Given the description of an element on the screen output the (x, y) to click on. 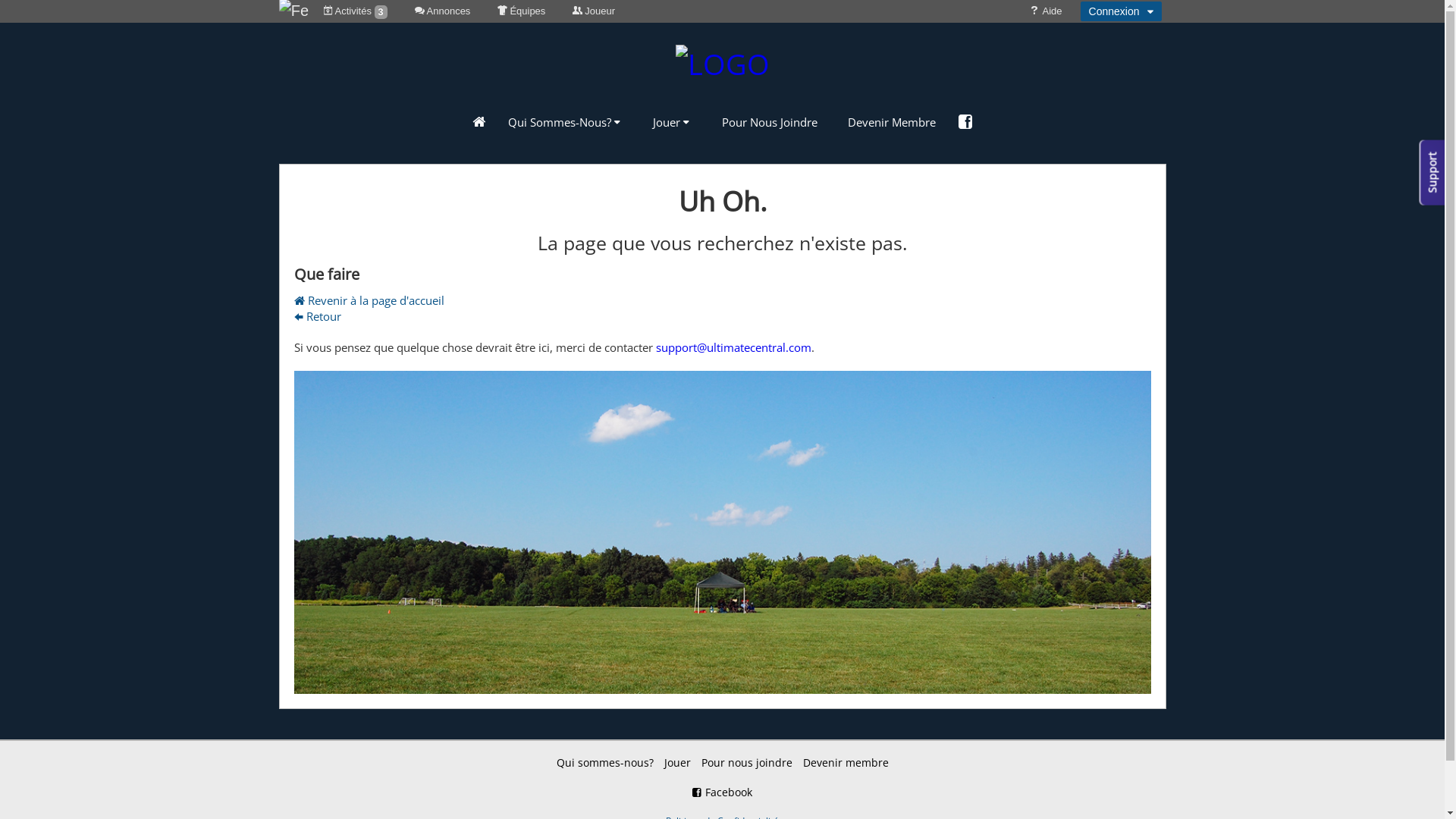
Jouer Element type: text (671, 122)
Accueil Element type: hover (721, 60)
Aide Element type: text (1046, 11)
Joueur Element type: text (593, 11)
Devenir membre Element type: text (845, 762)
Facebook Element type: text (722, 792)
LOGO Element type: hover (721, 64)
Connexion Element type: text (1120, 11)
Qui Sommes-Nous? Element type: text (564, 122)
Pour Nous Joindre Element type: text (769, 122)
support@ultimatecentral.com Element type: text (732, 346)
Devenir Membre Element type: text (891, 122)
Retour Element type: text (317, 315)
Pour nous joindre Element type: text (745, 762)
Jouer Element type: text (677, 762)
Qui sommes-nous? Element type: text (604, 762)
Annonces Element type: text (442, 11)
